Given the description of an element on the screen output the (x, y) to click on. 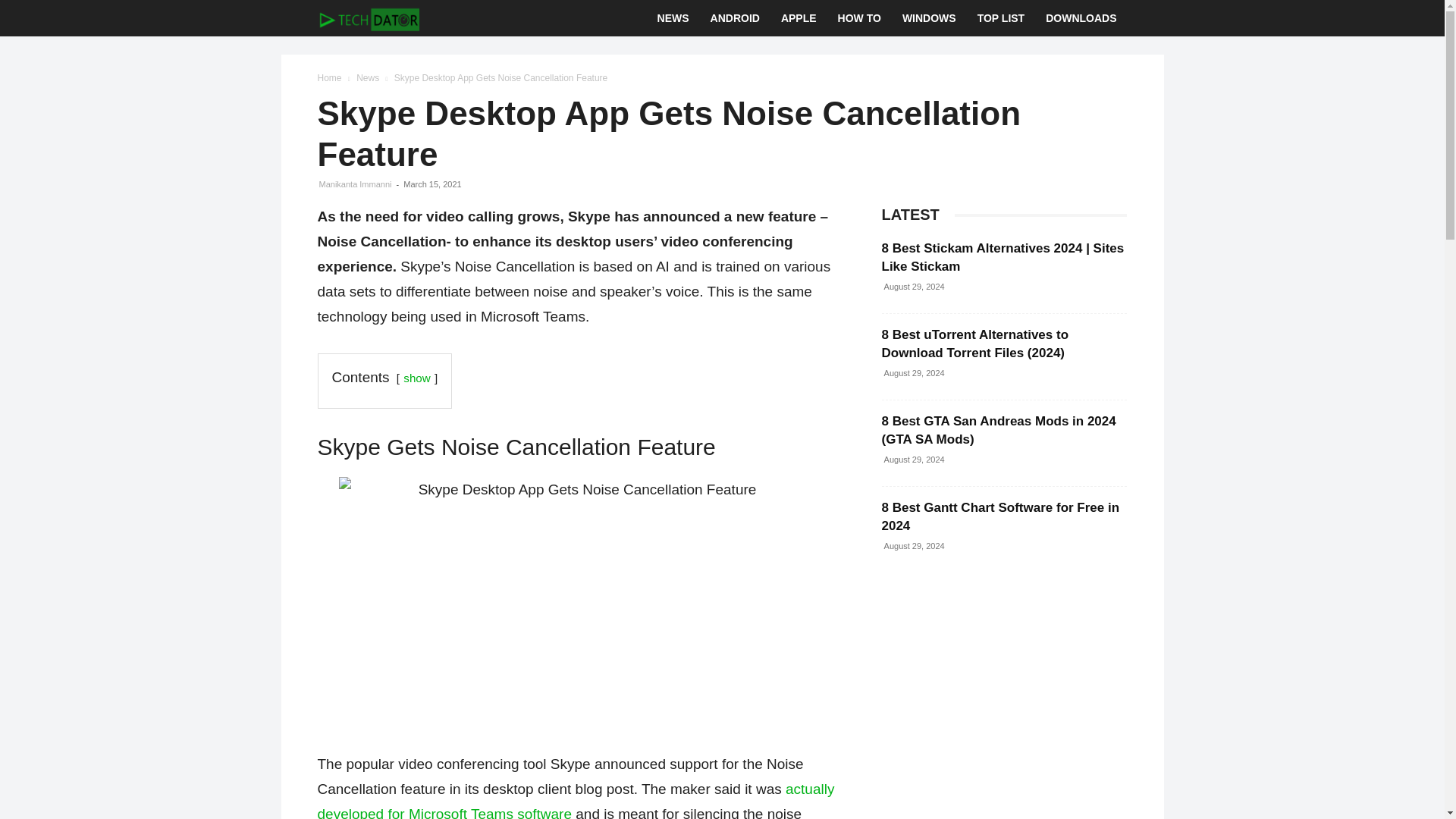
TechDator (368, 18)
Manikanta Immanni (354, 184)
show (416, 377)
Home (328, 77)
NEWS (673, 18)
DOWNLOADS (1080, 18)
APPLE (798, 18)
HOW TO (859, 18)
WINDOWS (928, 18)
actually developed for Microsoft Teams software (575, 800)
